Given the description of an element on the screen output the (x, y) to click on. 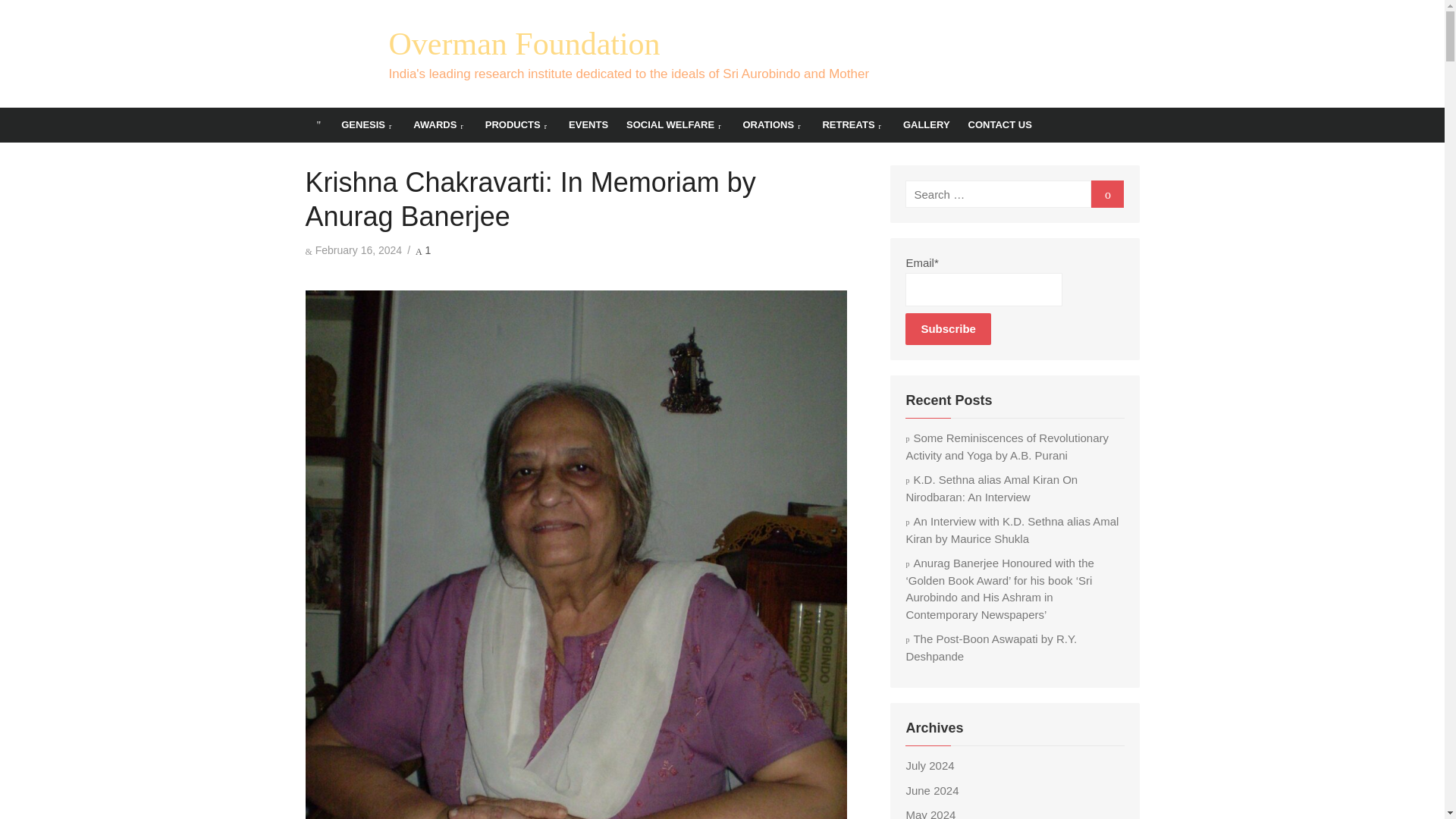
Subscribe (948, 328)
Overman Foundation (523, 44)
